Given the description of an element on the screen output the (x, y) to click on. 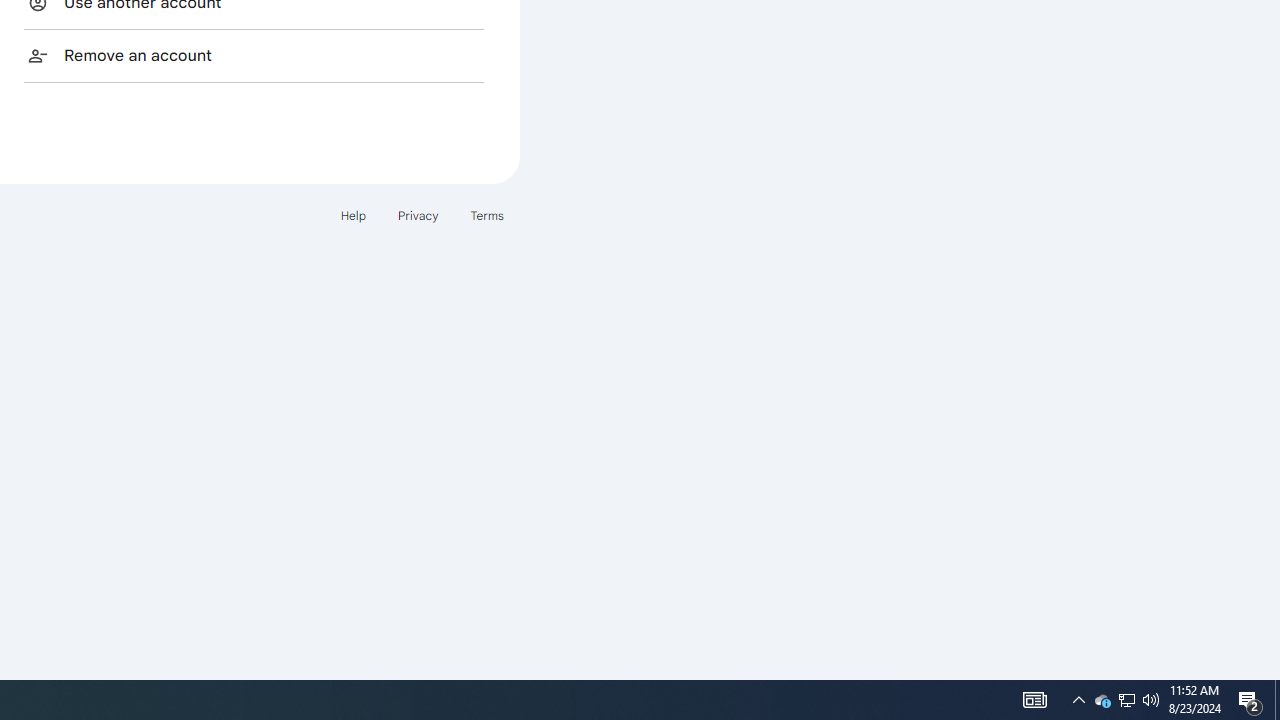
Remove an account (253, 55)
